Given the description of an element on the screen output the (x, y) to click on. 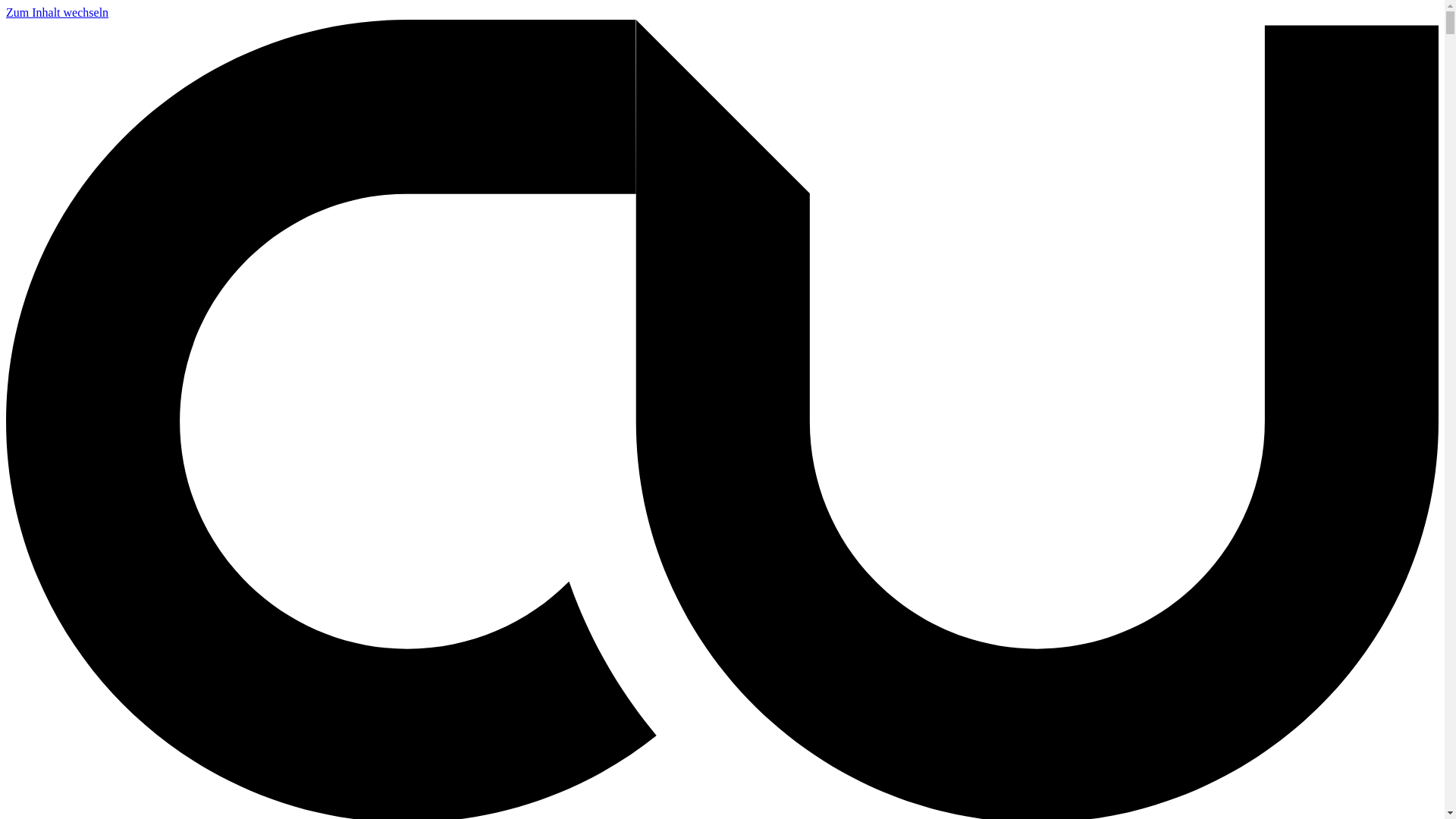
Zum Inhalt wechseln Element type: text (57, 12)
